Given the description of an element on the screen output the (x, y) to click on. 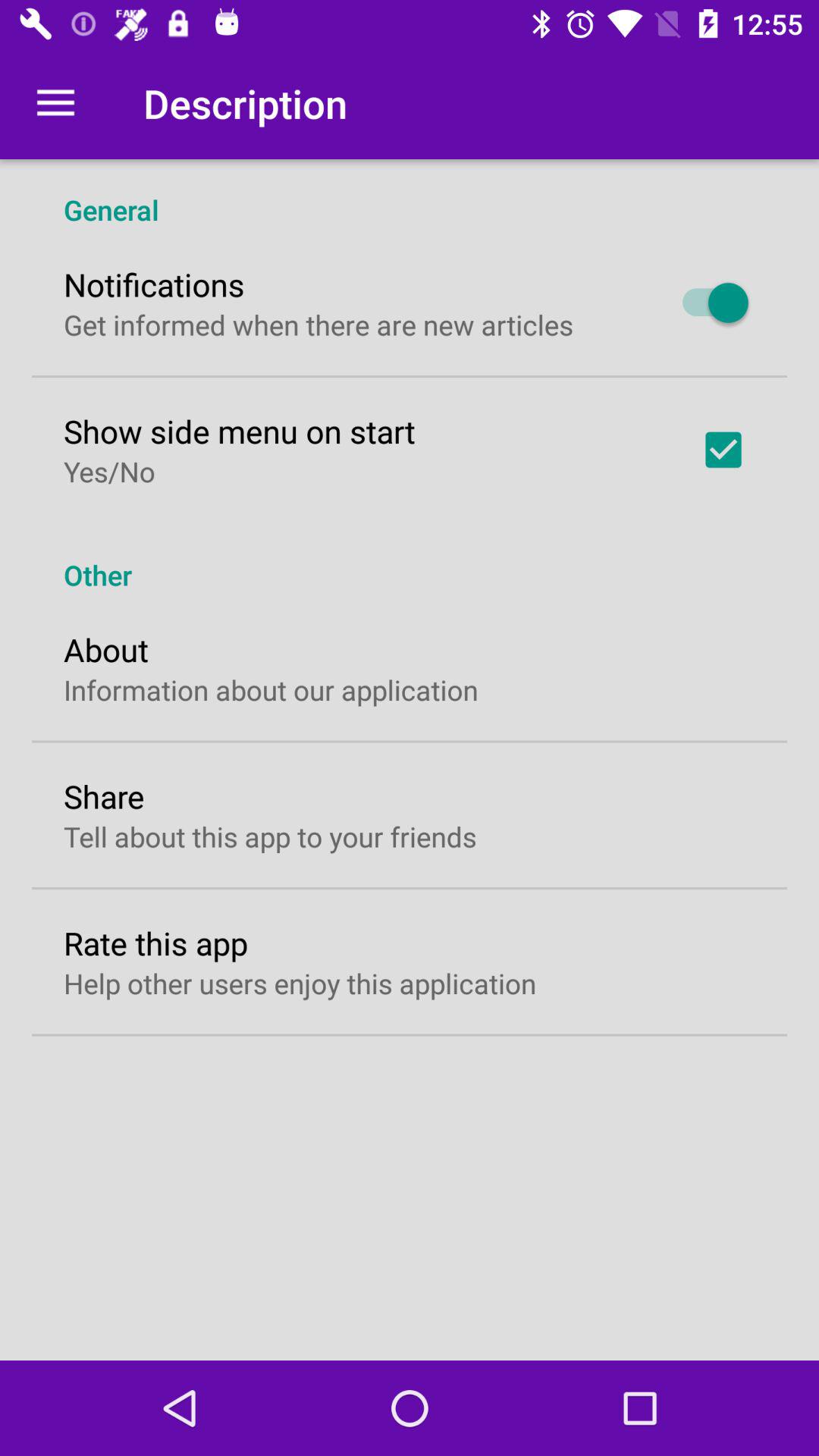
jump to help other users item (299, 983)
